Given the description of an element on the screen output the (x, y) to click on. 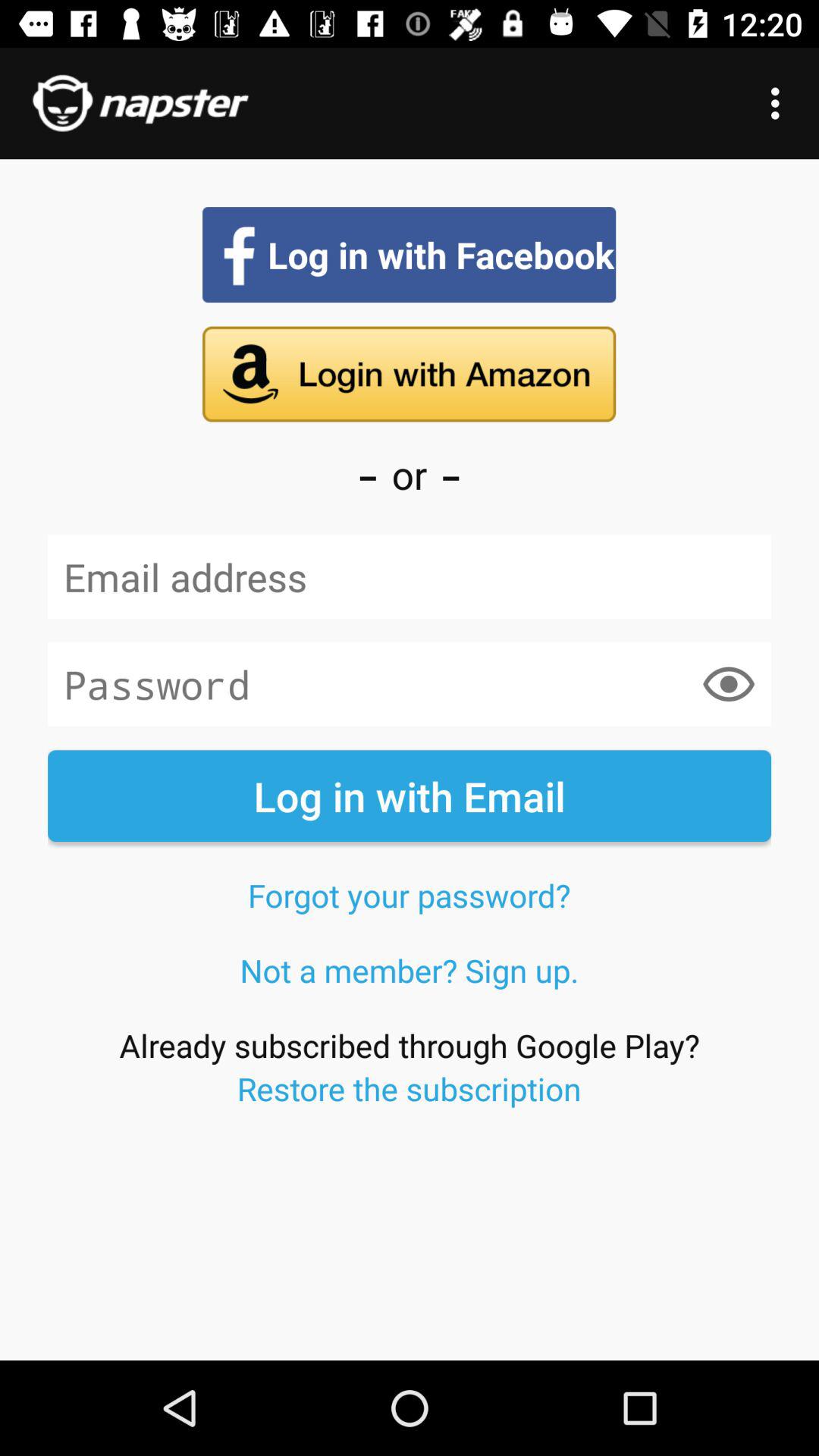
press the forgot your password? item (408, 894)
